Given the description of an element on the screen output the (x, y) to click on. 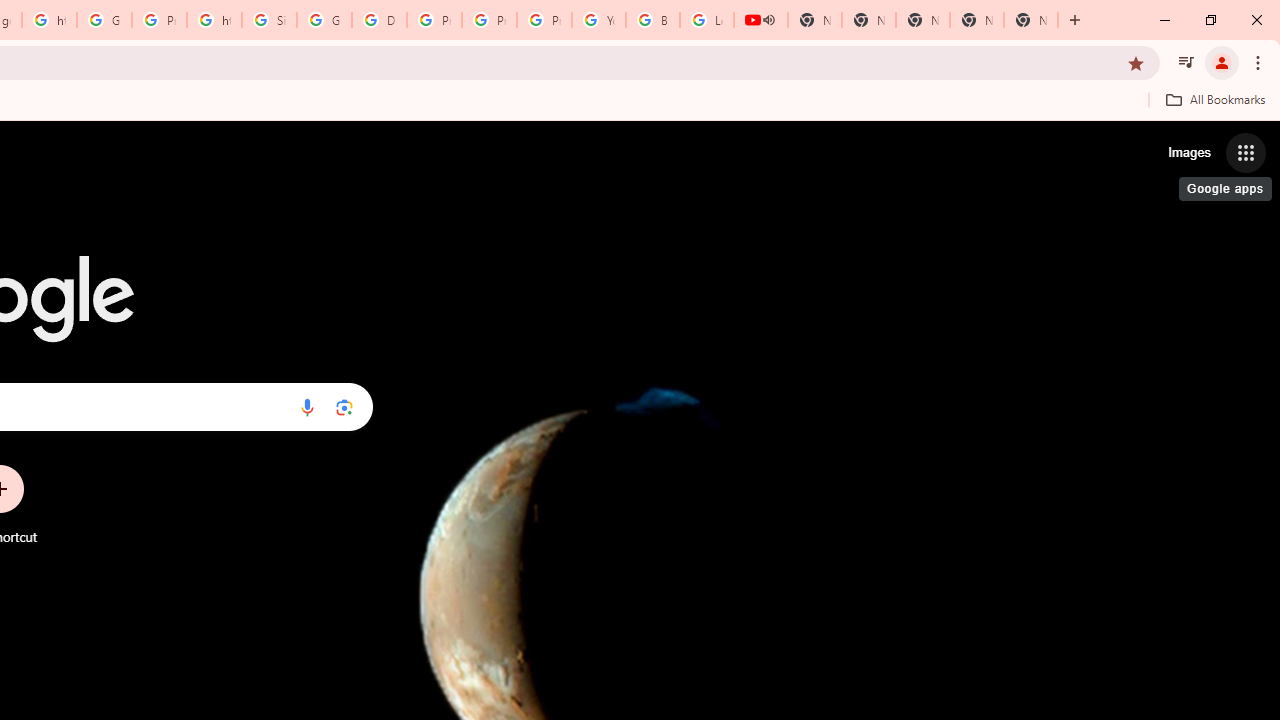
Minimize (1165, 20)
Bookmark this tab (1135, 62)
Privacy Help Center - Policies Help (489, 20)
Privacy Help Center - Policies Help (434, 20)
You (1221, 62)
Search for Images  (1188, 152)
https://scholar.google.com/ (48, 20)
New Tab (1030, 20)
Search by image (344, 407)
Google apps (1245, 152)
Search by voice (307, 407)
